Given the description of an element on the screen output the (x, y) to click on. 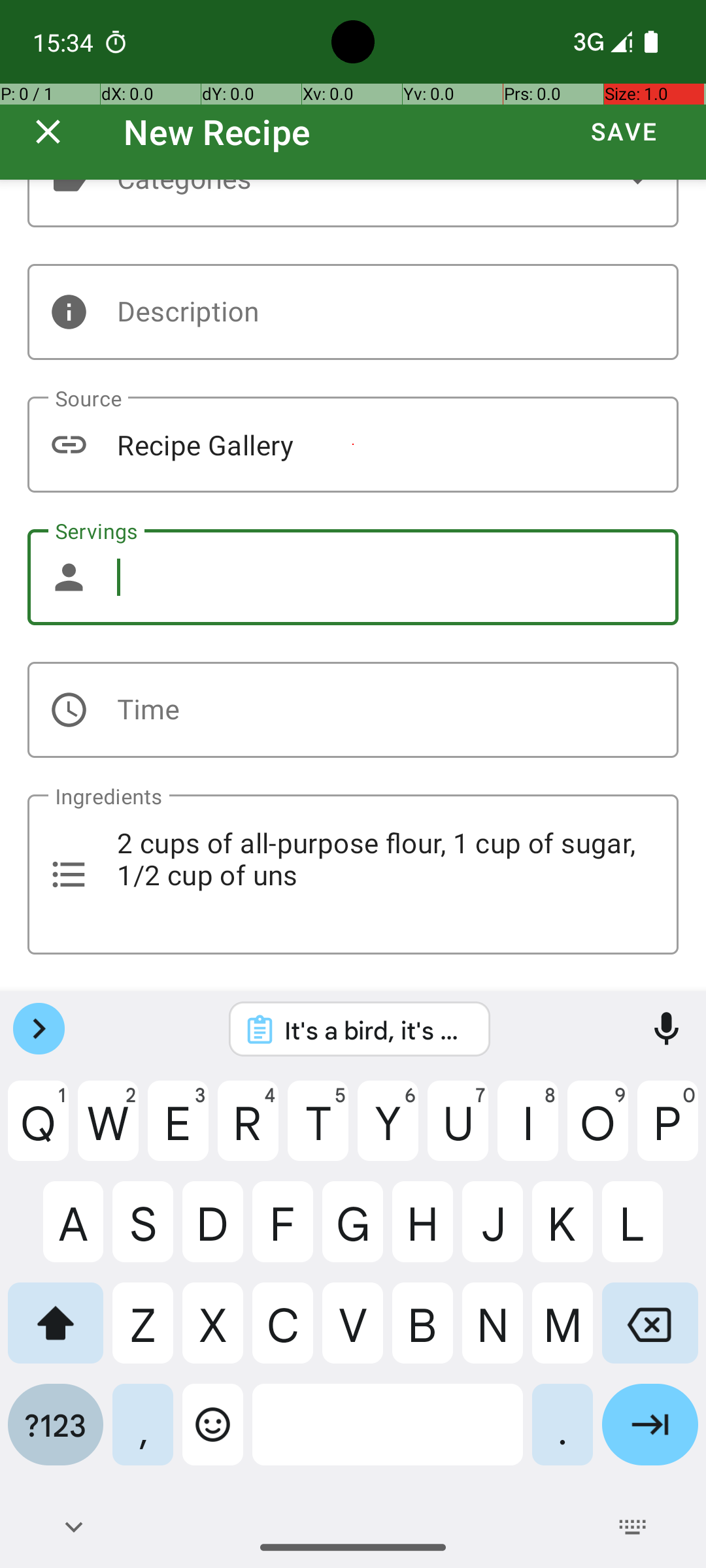
Recipe Gallery Element type: android.widget.EditText (352, 444)
2 cups of all-purpose flour, 1 cup of sugar, 1/2 cup of uns
 Element type: android.widget.EditText (352, 874)
